Given the description of an element on the screen output the (x, y) to click on. 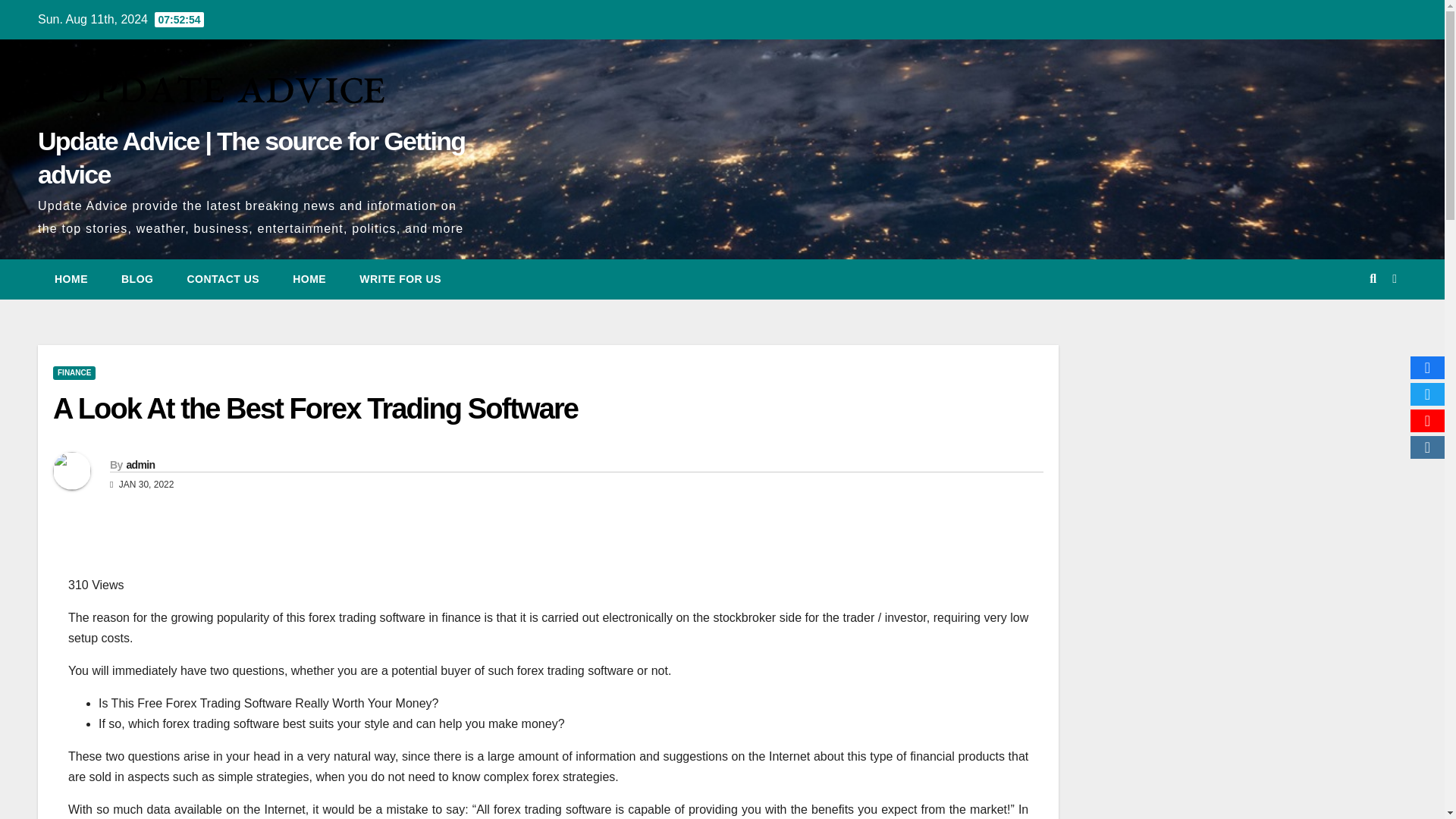
HOME (70, 278)
admin (139, 464)
Permalink to: A Look At the Best Forex Trading Software (315, 409)
BLOG (137, 278)
Home (70, 278)
HOME (309, 278)
WRITE FOR US (400, 278)
A Look At the Best Forex Trading Software (315, 409)
CONTACT US (223, 278)
FINANCE (74, 373)
